Given the description of an element on the screen output the (x, y) to click on. 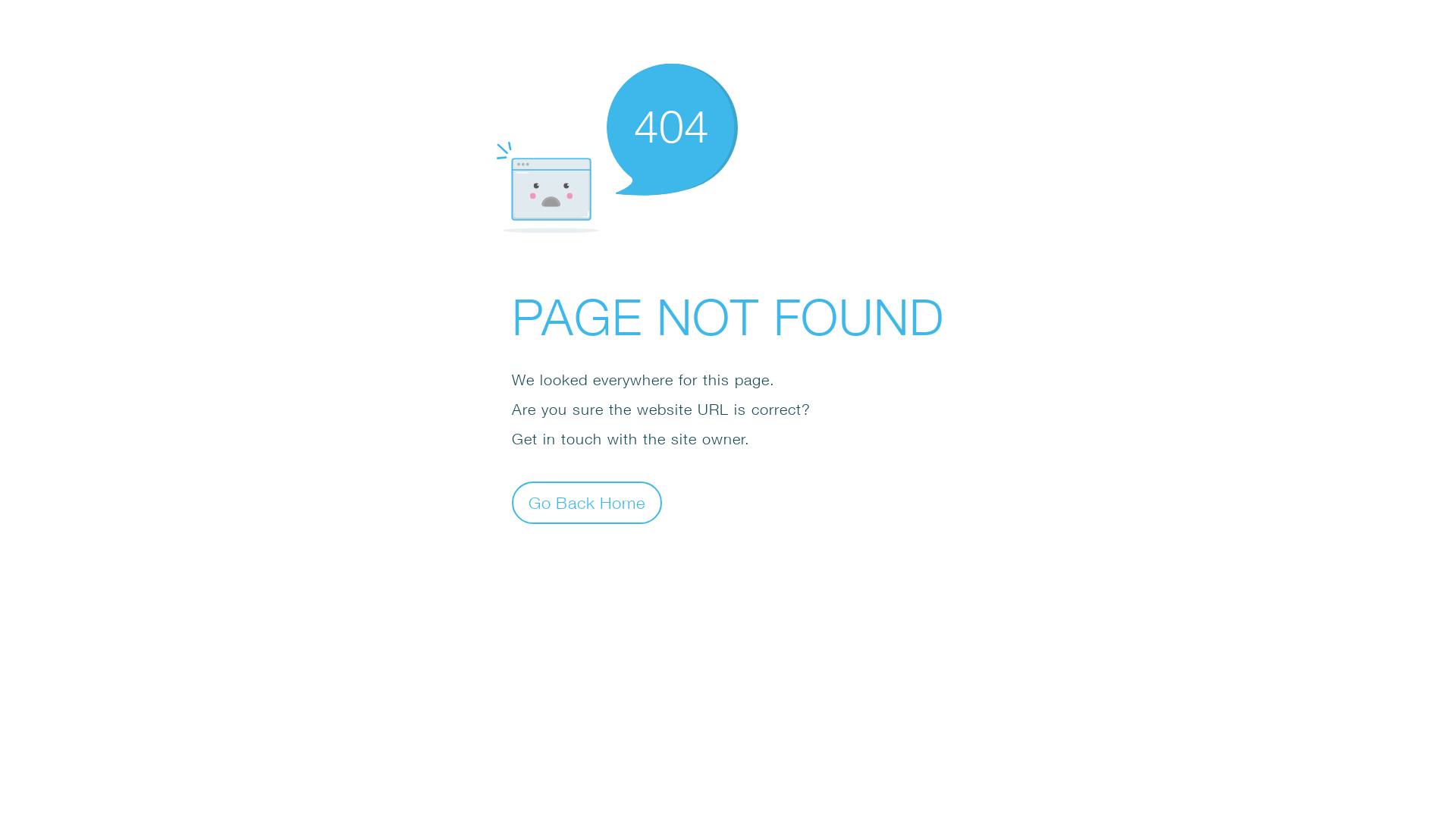
Go Back Home Element type: text (586, 502)
